Given the description of an element on the screen output the (x, y) to click on. 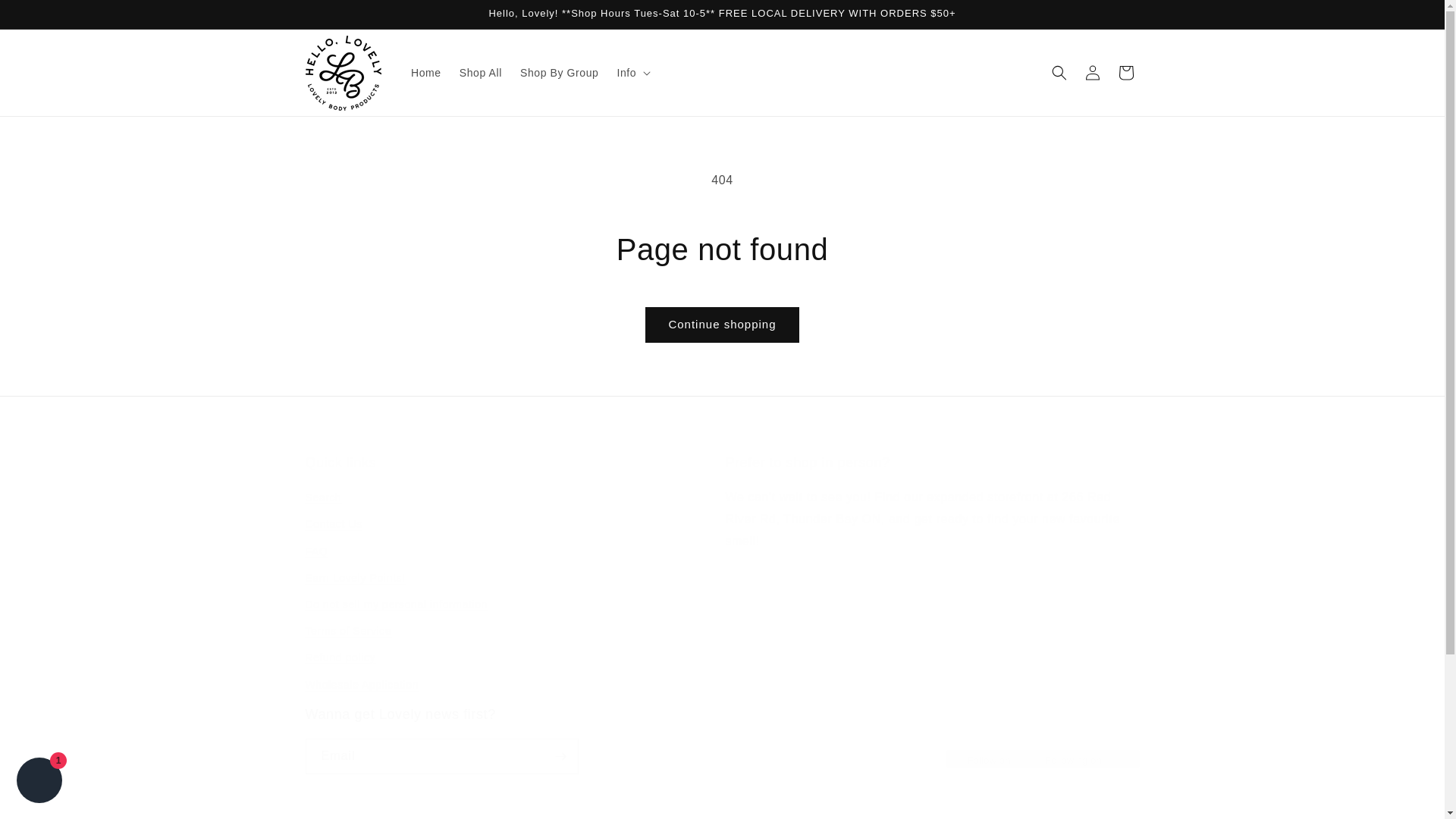
Skip to content (45, 17)
Shop All (480, 72)
Log in (1091, 72)
Shop By Group (559, 72)
Contact Us (332, 524)
Search (322, 499)
Shopify online store chat (721, 739)
FAQ (38, 781)
Continue shopping (315, 551)
Cart (721, 325)
Home (1124, 72)
